Given the description of an element on the screen output the (x, y) to click on. 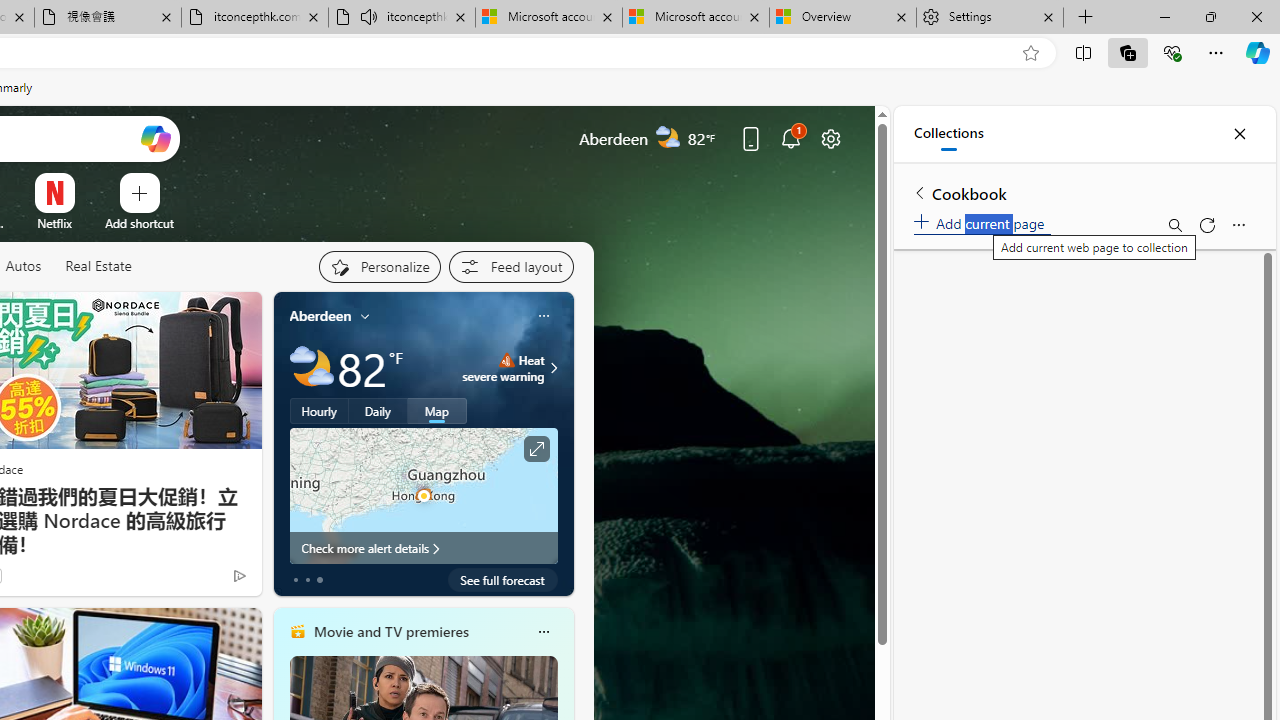
Partly cloudy (311, 368)
itconcepthk.com/projector_solutions.mp4 (254, 17)
Class: weather-arrow-glyph (554, 367)
Back to list of collections (920, 192)
Add current page (982, 219)
Heat - Severe (505, 359)
